Given the description of an element on the screen output the (x, y) to click on. 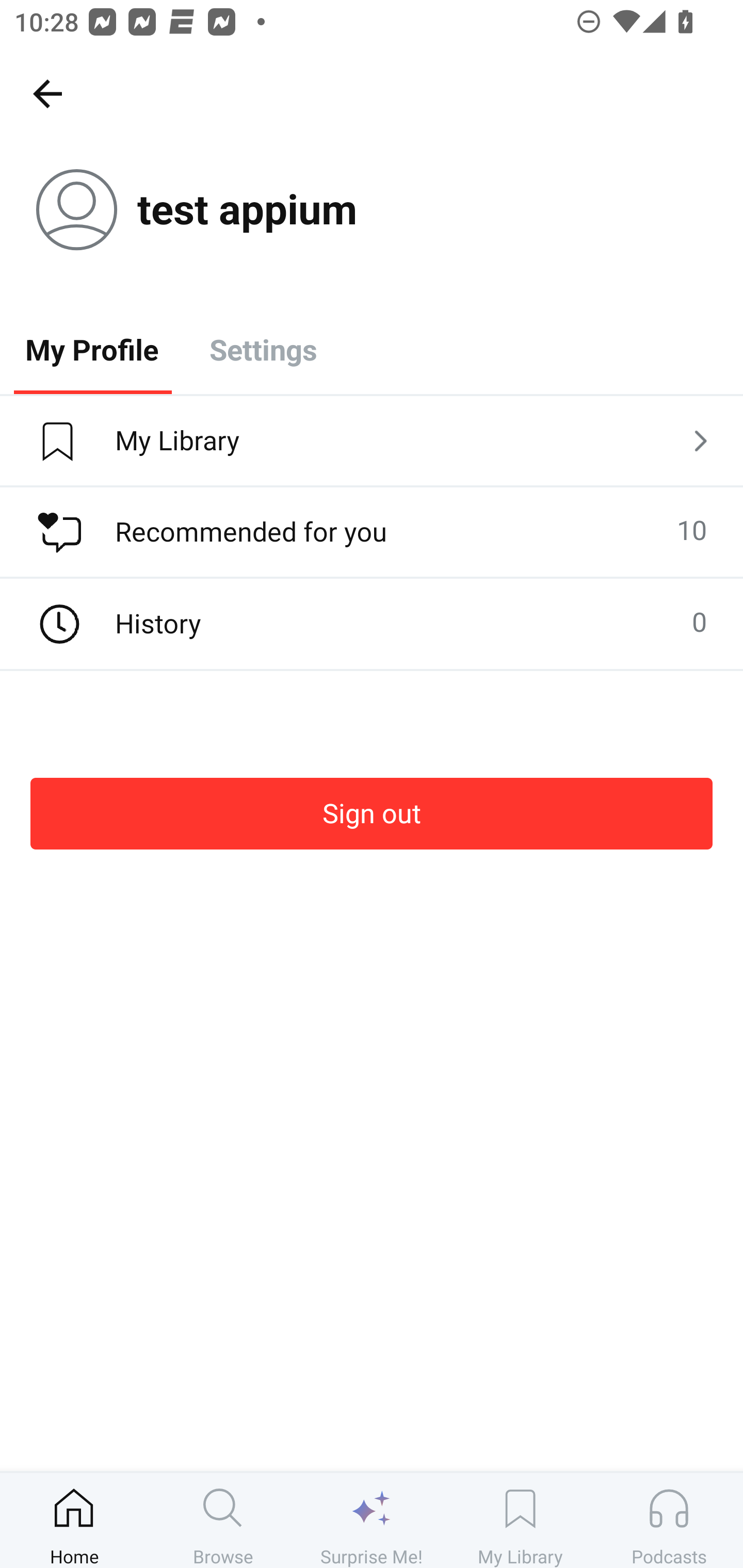
Home, back (47, 92)
My Profile (92, 348)
Settings (263, 348)
My Library (371, 441)
Recommended for you 10 (371, 532)
History 0 (371, 623)
Sign out (371, 813)
Home (74, 1520)
Browse (222, 1520)
Surprise Me! (371, 1520)
My Library (519, 1520)
Podcasts (668, 1520)
